Given the description of an element on the screen output the (x, y) to click on. 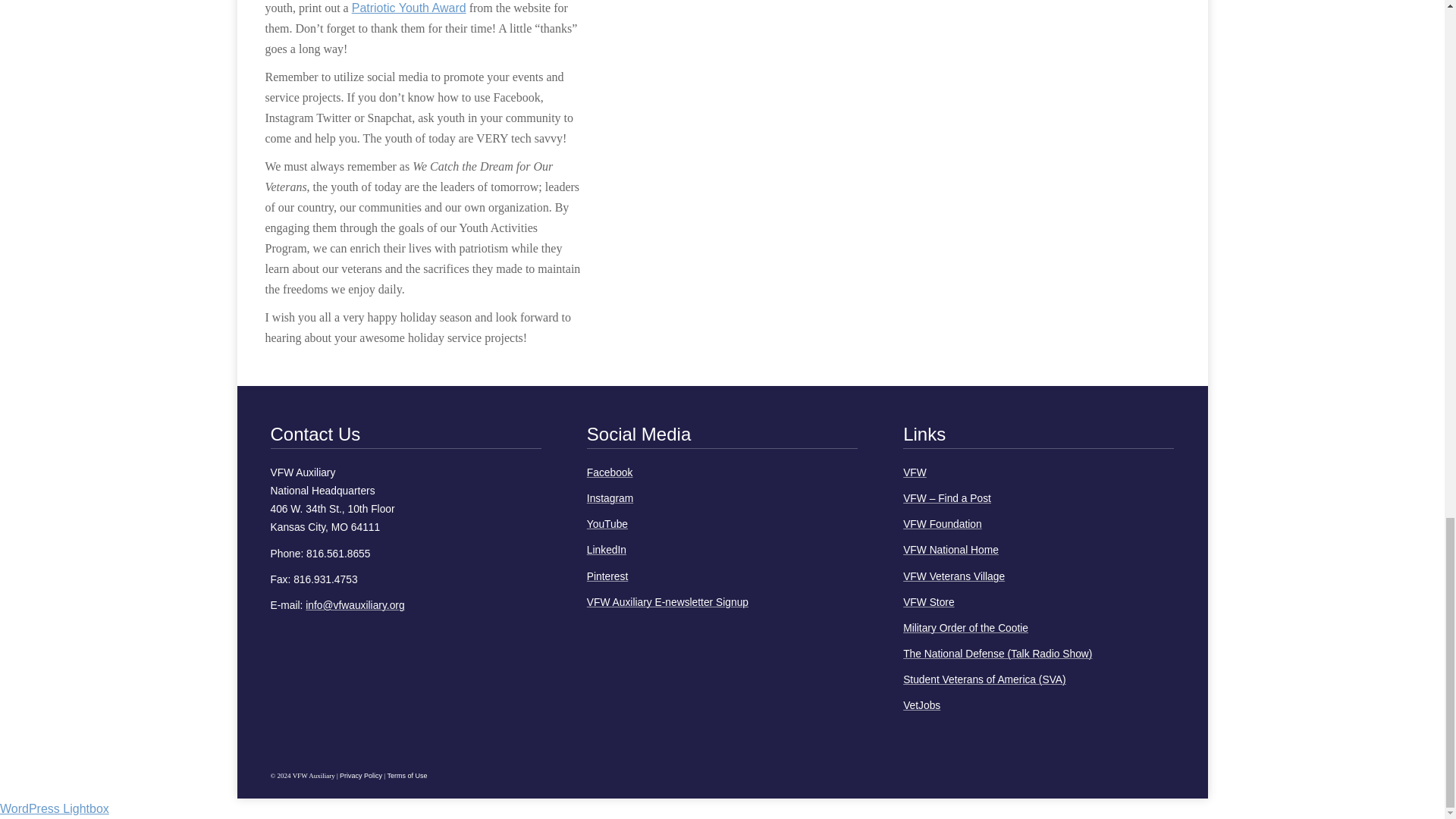
WordPress Lightbox (54, 808)
